Given the description of an element on the screen output the (x, y) to click on. 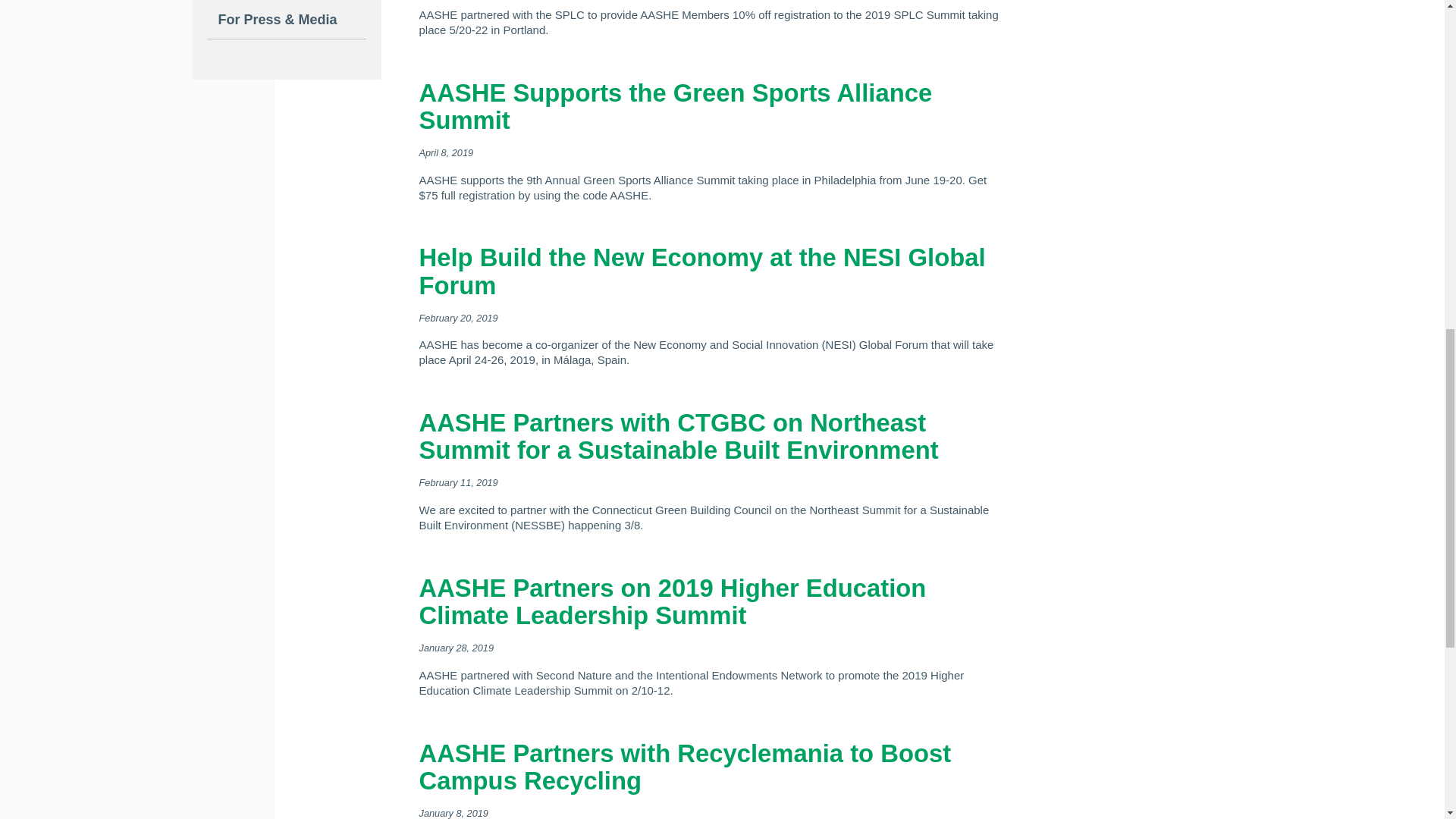
AASHE Partners with Recyclemania to Boost Campus Recycling (684, 765)
AASHE Supports the Green Sports Alliance Summit (675, 106)
Help Build the New Economy at the NESI Global Forum (702, 270)
